Given the description of an element on the screen output the (x, y) to click on. 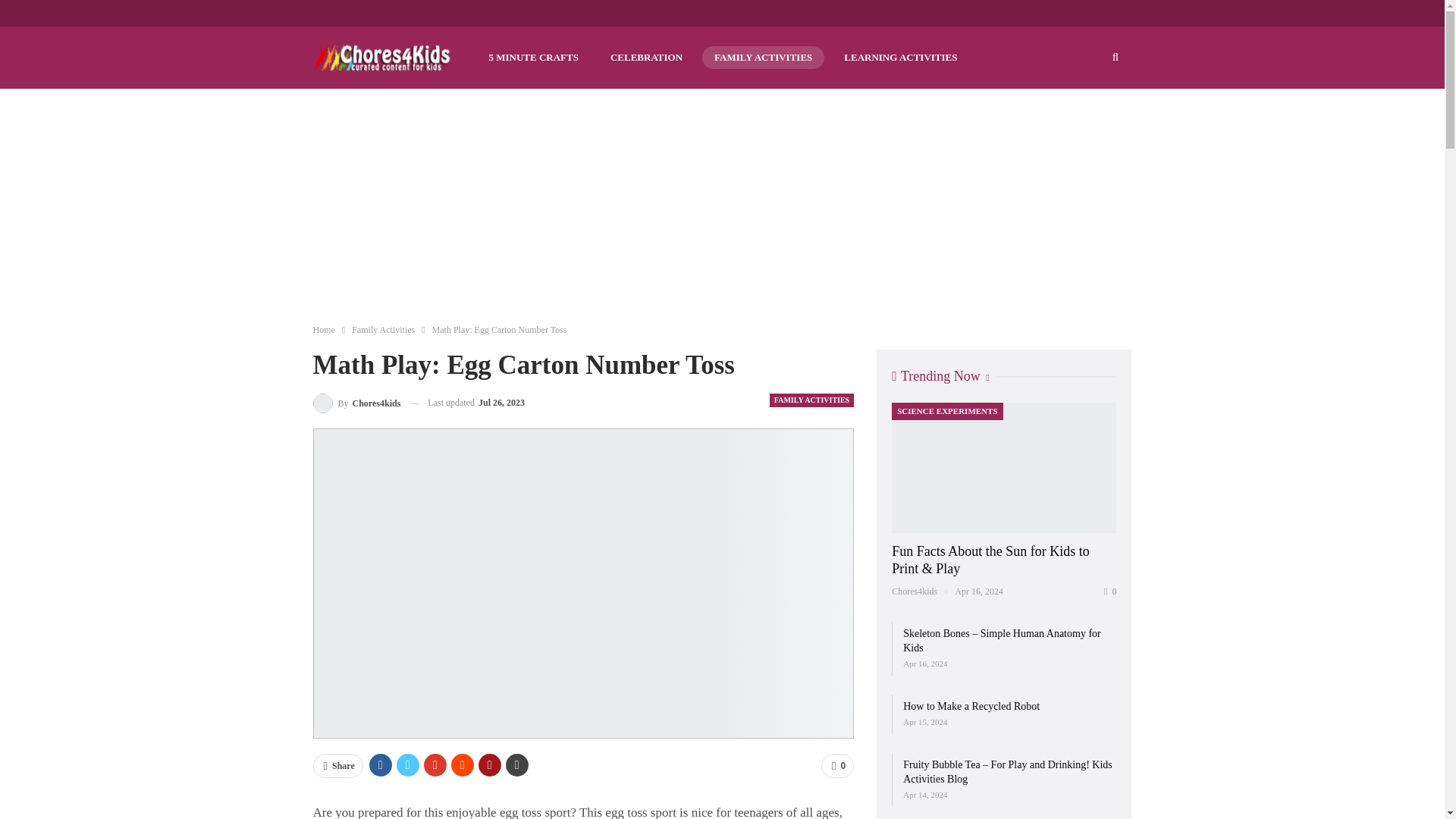
LEARNING ACTIVITIES (900, 56)
5 MINUTE CRAFTS (532, 56)
Browse Author Articles (356, 403)
CELEBRATION (646, 56)
Home (323, 329)
FAMILY ACTIVITIES (811, 400)
0 (837, 765)
By Chores4kids (356, 403)
Family Activities (383, 329)
FAMILY ACTIVITIES (762, 56)
